Given the description of an element on the screen output the (x, y) to click on. 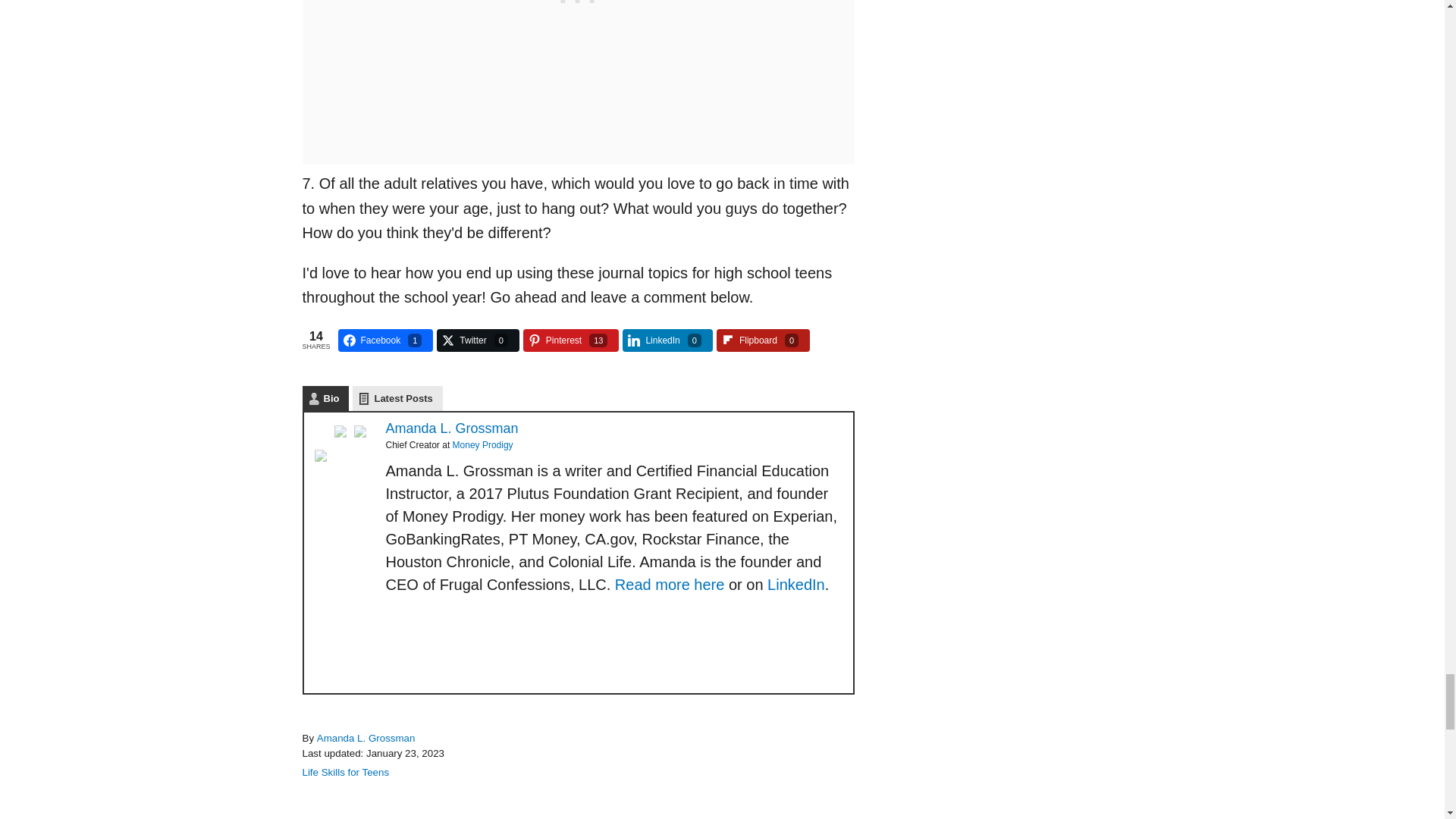
Twitter0 (477, 340)
Share on Flipboard (762, 340)
Facebook (322, 458)
Flipboard0 (762, 340)
Amanda L. Grossman (451, 427)
Amanda L. Grossman (365, 737)
Pinterest (342, 434)
Bio (325, 398)
Share on Twitter (477, 340)
YouTube (362, 434)
LinkedIn0 (668, 340)
Share on Facebook (385, 340)
Latest Posts (397, 398)
Share on Pinterest (571, 340)
Money Prodigy (482, 444)
